Given the description of an element on the screen output the (x, y) to click on. 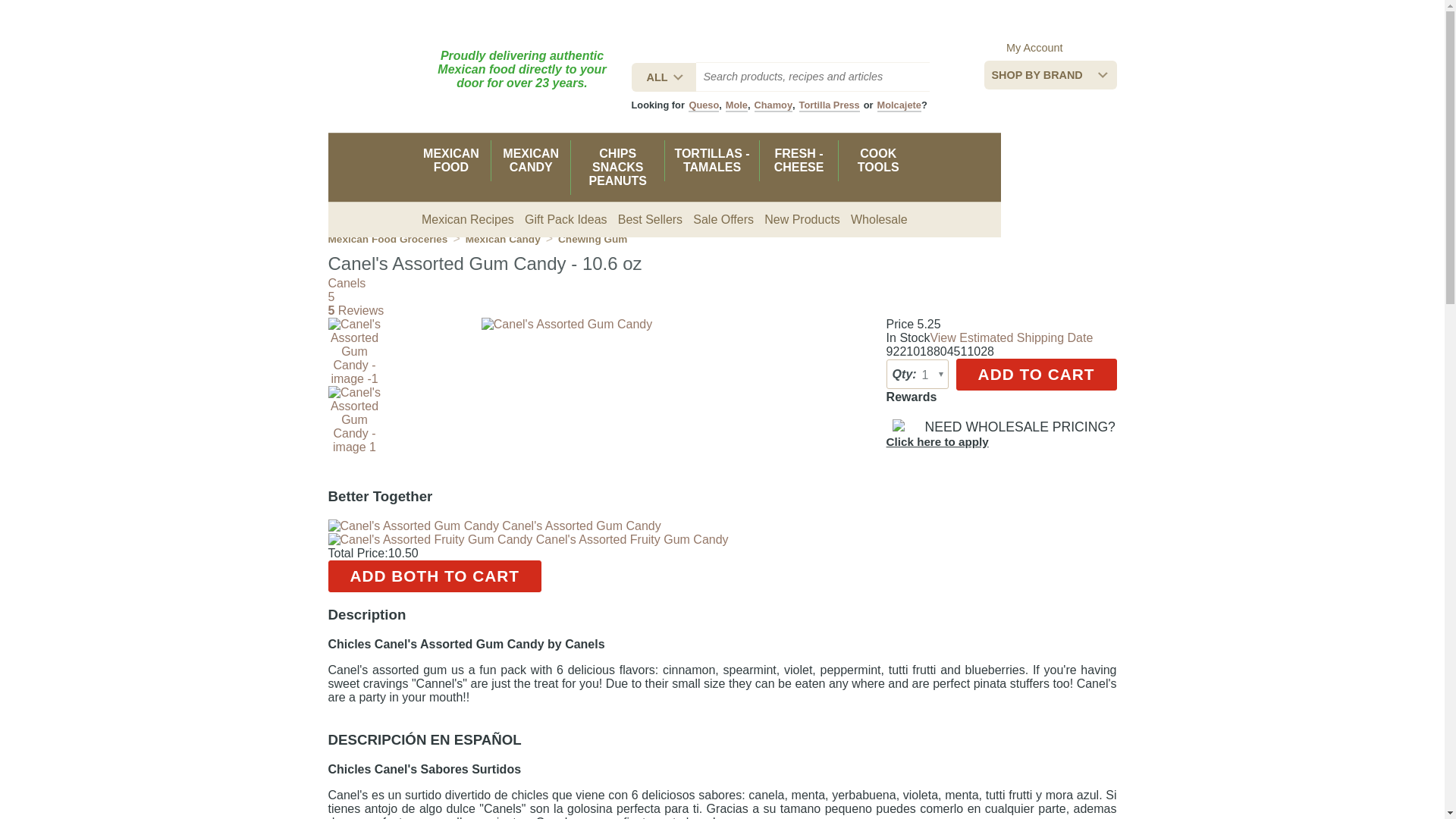
Add To Cart (1036, 374)
Canel's Assorted Fruity Gum Candy (527, 539)
Search For (812, 76)
mexgrocer.com (373, 73)
View Estimated Shipping Date (1011, 337)
Click here to apply (937, 440)
Add Both To Cart (434, 576)
5 Reviews (355, 309)
Go (948, 76)
Mexican Food Groceries (386, 238)
Chewing Gum (592, 238)
Mexican Candy (502, 238)
Add To Cart (1036, 374)
Canels (346, 282)
Add Both To Cart (434, 576)
